Given the description of an element on the screen output the (x, y) to click on. 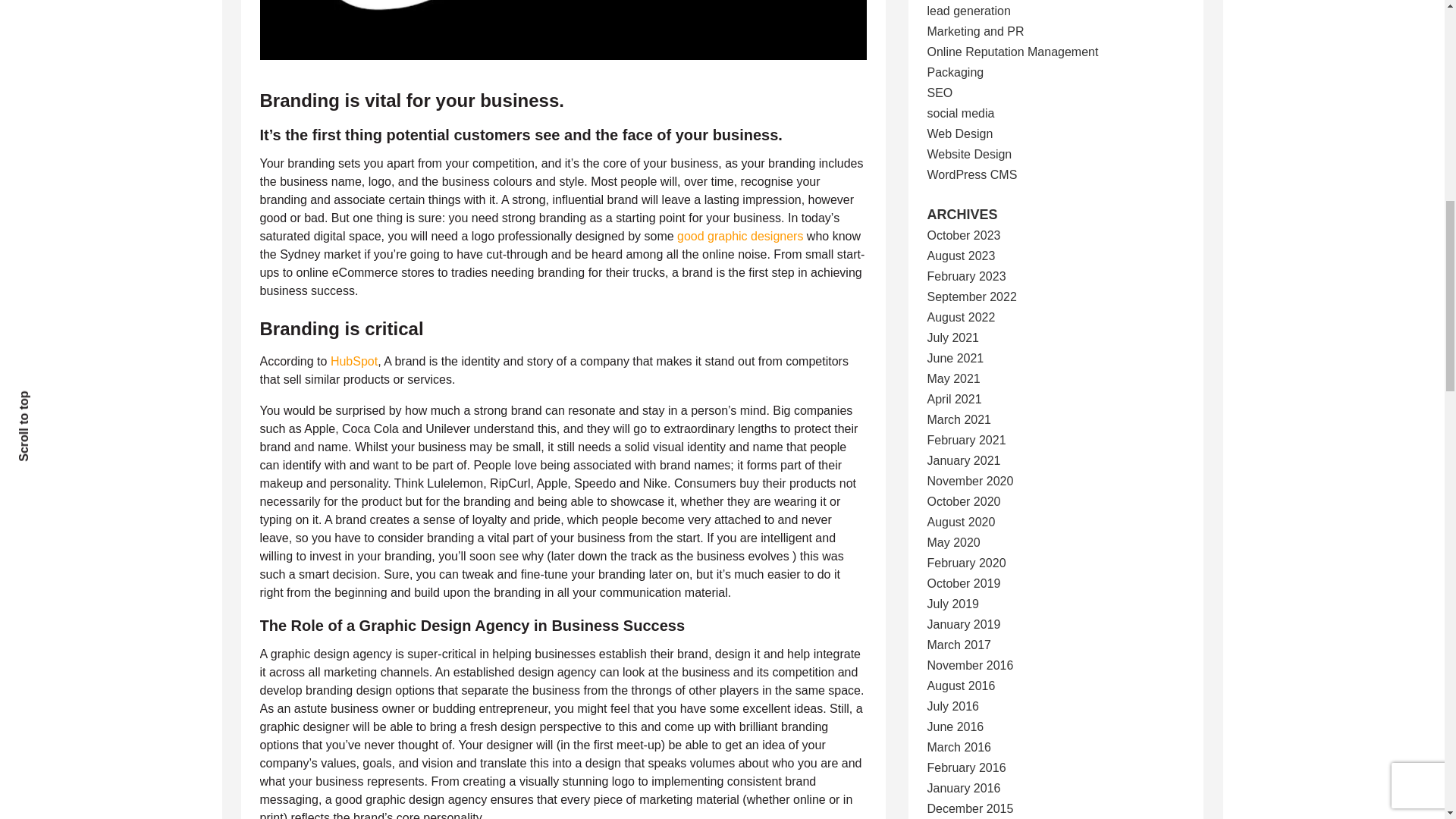
HubSpot (353, 360)
good graphic designers (740, 236)
